Given the description of an element on the screen output the (x, y) to click on. 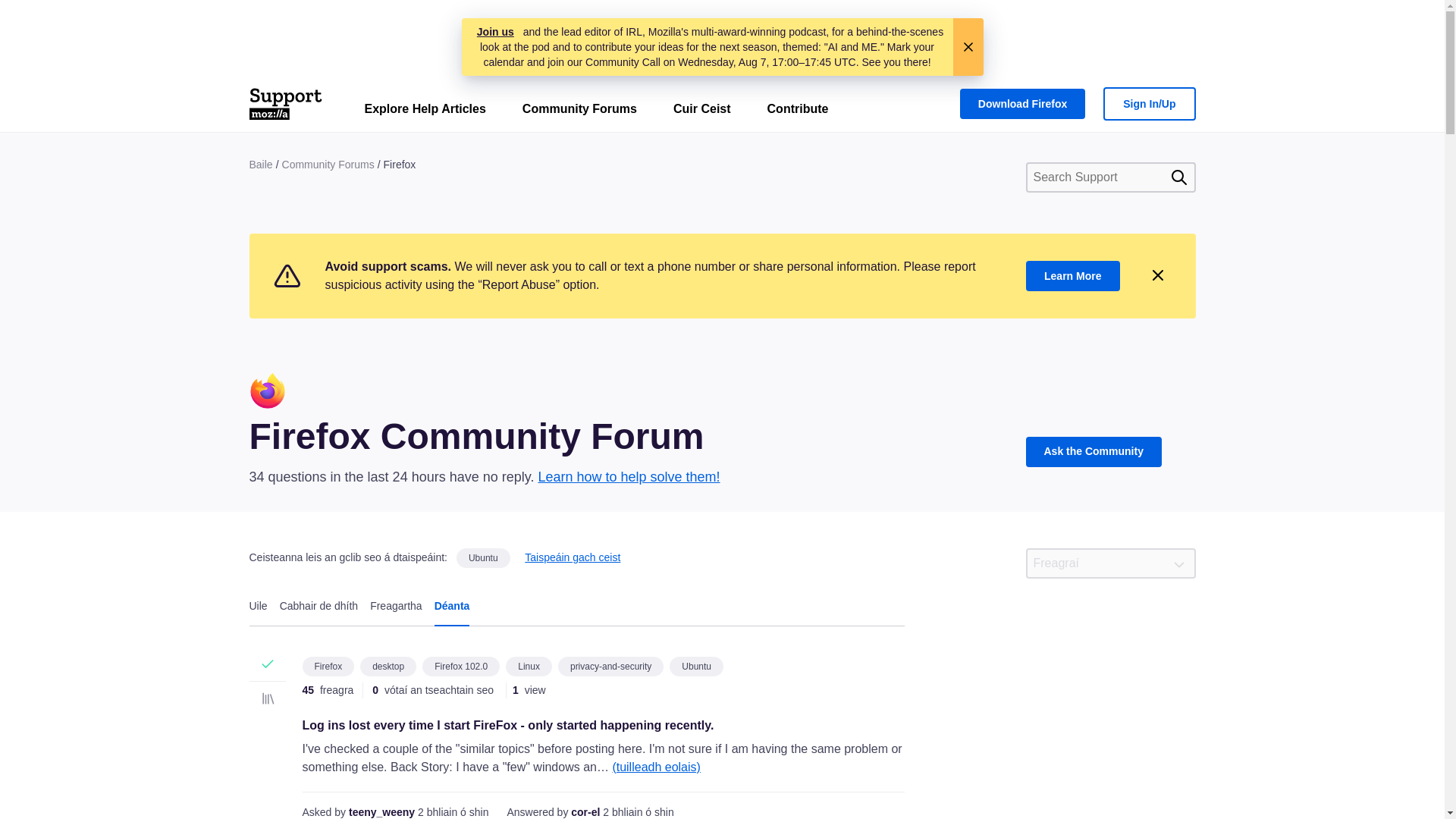
Explore Help Articles (424, 112)
Join us (495, 31)
Cuardaigh (1178, 177)
Cuir Ceist (702, 112)
Community Forums (579, 112)
